Given the description of an element on the screen output the (x, y) to click on. 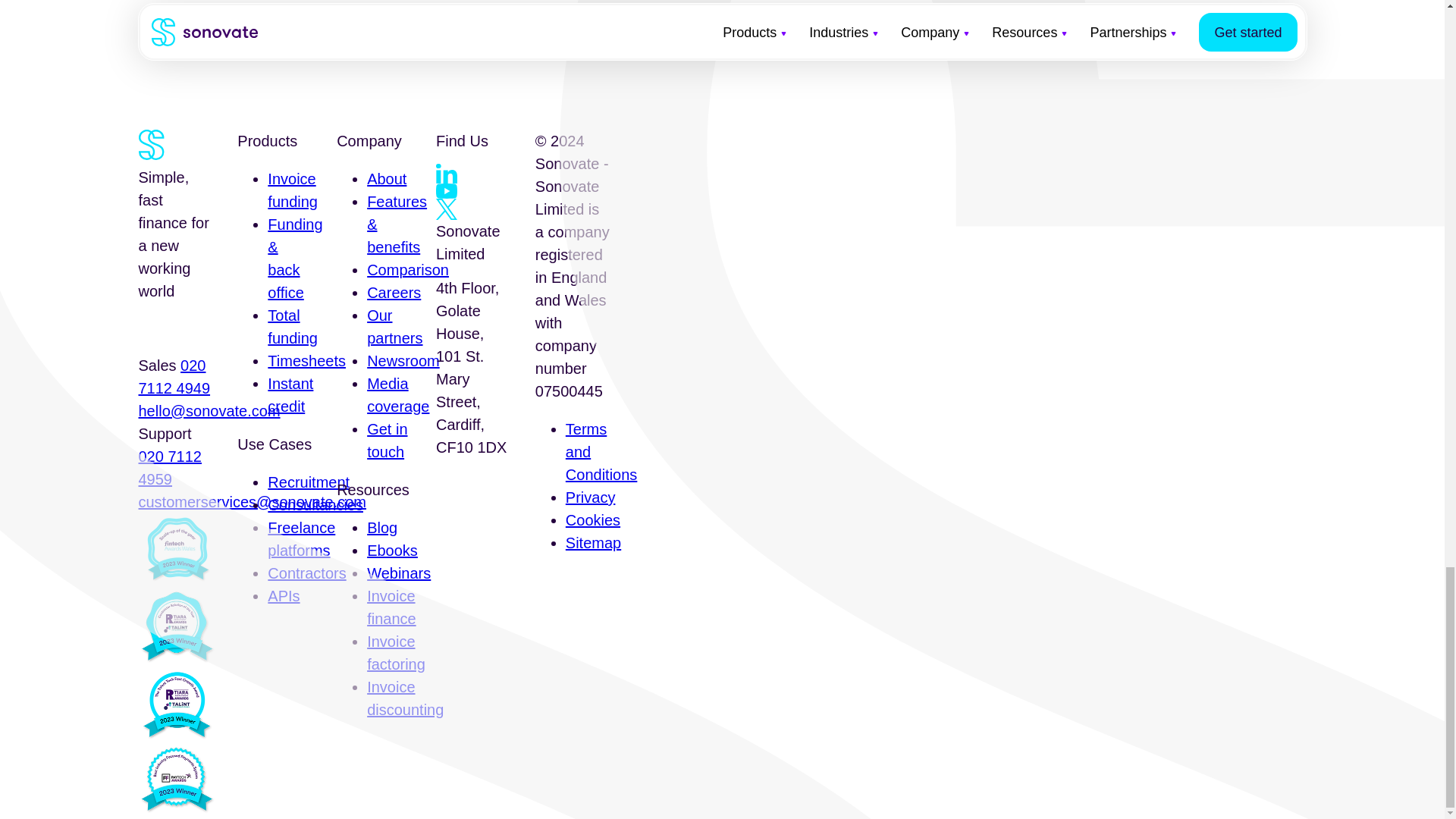
award badge (176, 626)
award badge (176, 703)
social-link (446, 191)
social-link (446, 209)
award badge (176, 551)
social-link (446, 173)
